Given the description of an element on the screen output the (x, y) to click on. 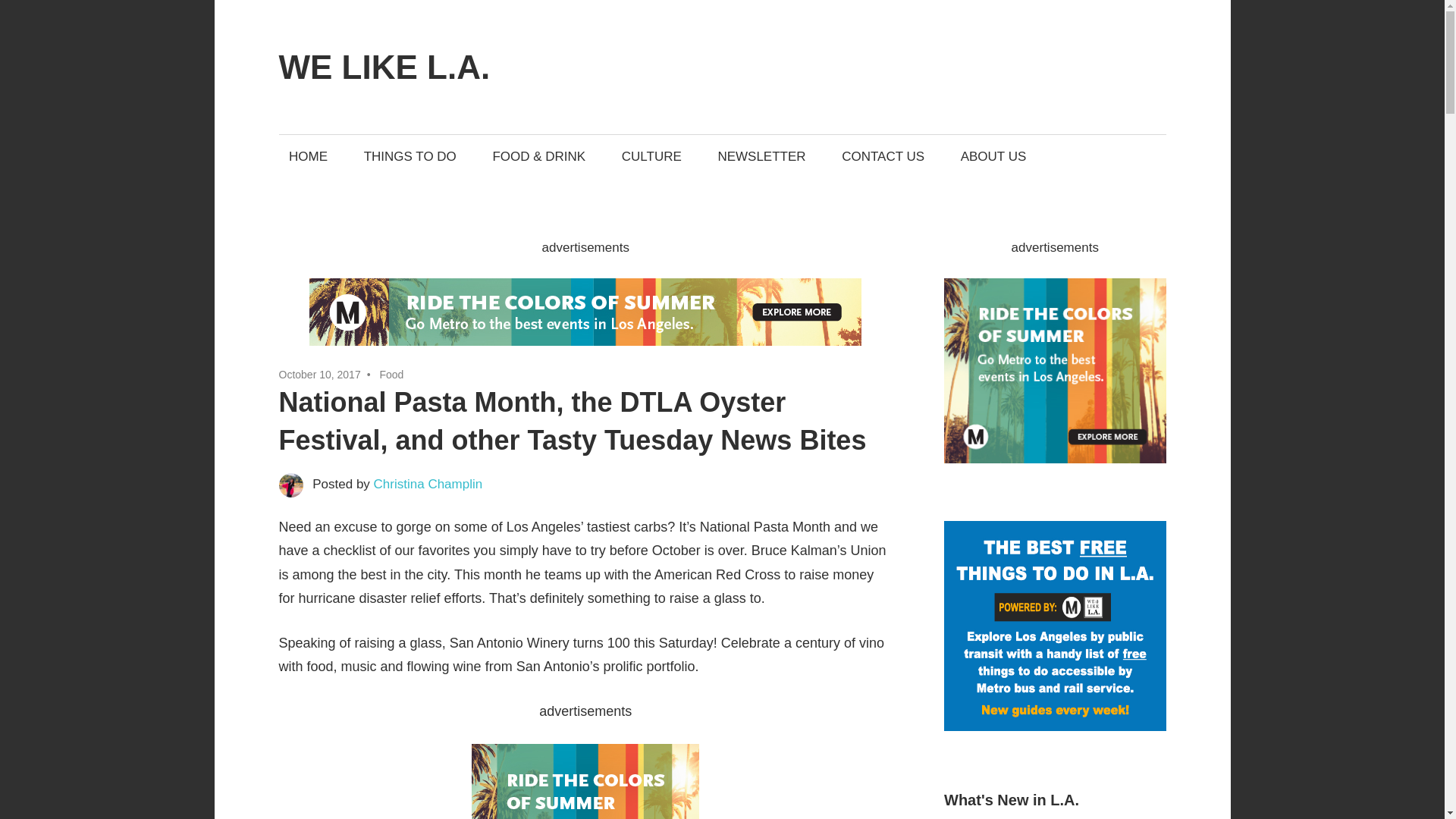
ABOUT US (993, 156)
8:33 am (320, 374)
View all posts by Christina Champlin (428, 483)
HOME (308, 156)
WE LIKE L.A. (384, 66)
NEWSLETTER (761, 156)
Food (390, 374)
Christina Champlin (428, 483)
CULTURE (651, 156)
THINGS TO DO (409, 156)
October 10, 2017 (320, 374)
CONTACT US (882, 156)
